Given the description of an element on the screen output the (x, y) to click on. 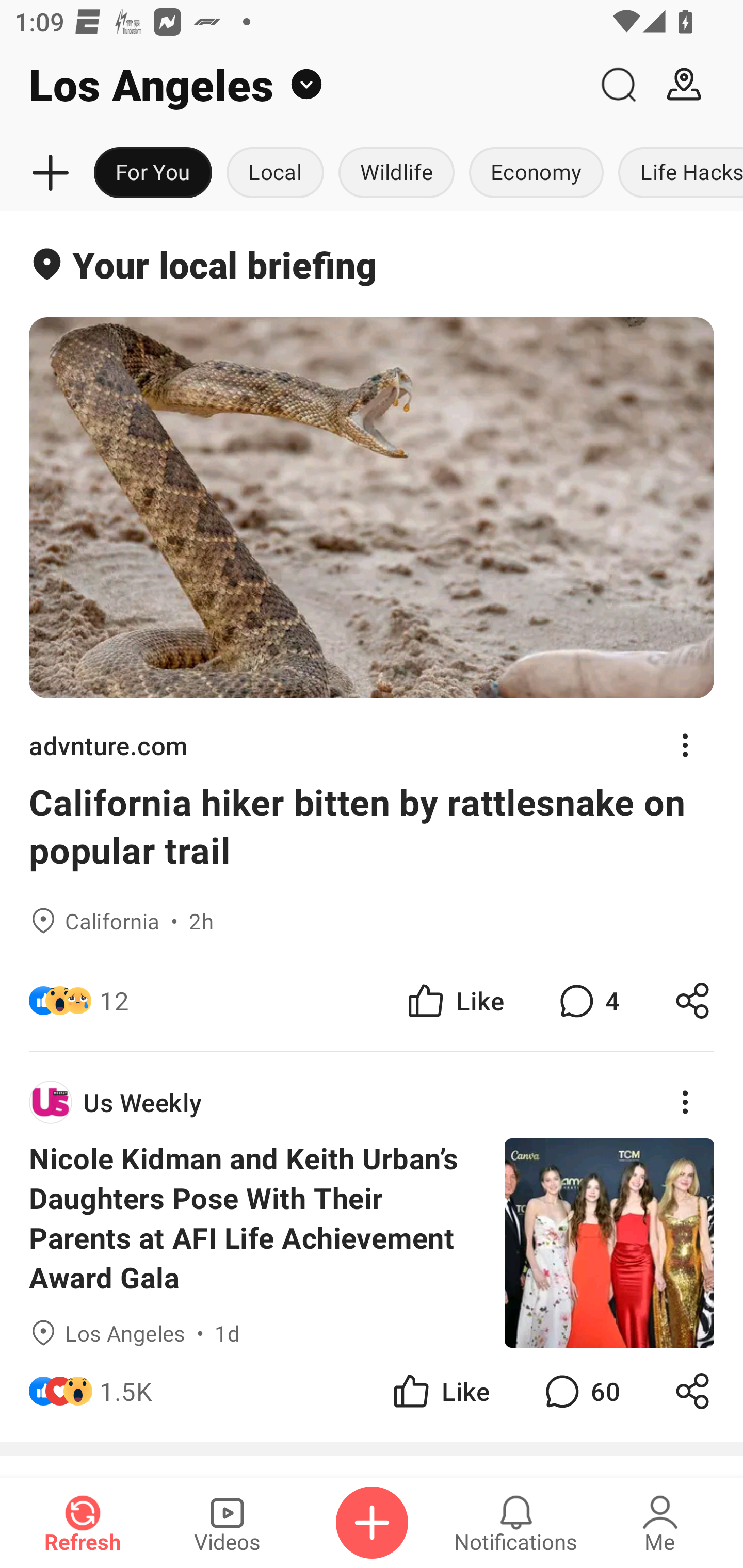
Los Angeles (292, 84)
For You (152, 172)
Local (275, 172)
Wildlife (396, 172)
Economy (536, 172)
Life Hacks (676, 172)
12 (114, 1001)
Like (454, 1001)
4 (587, 1001)
1.5K (125, 1391)
Like (439, 1391)
60 (579, 1391)
Videos (227, 1522)
Notifications (516, 1522)
Me (659, 1522)
